Given the description of an element on the screen output the (x, y) to click on. 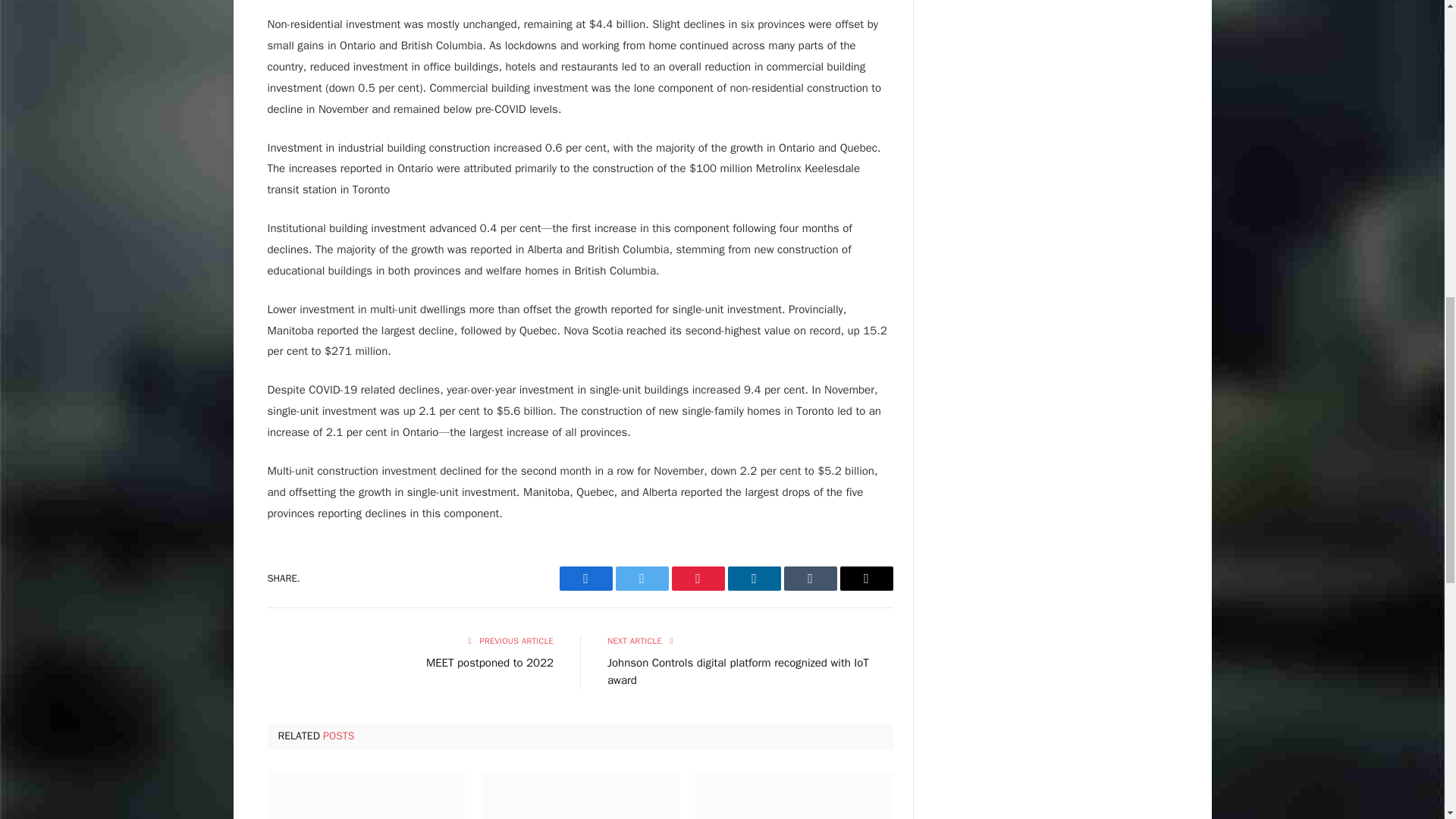
Share on LinkedIn (754, 578)
Share on Facebook (585, 578)
Share via Email (866, 578)
Share on Tumblr (810, 578)
Share on Pinterest (698, 578)
